Given the description of an element on the screen output the (x, y) to click on. 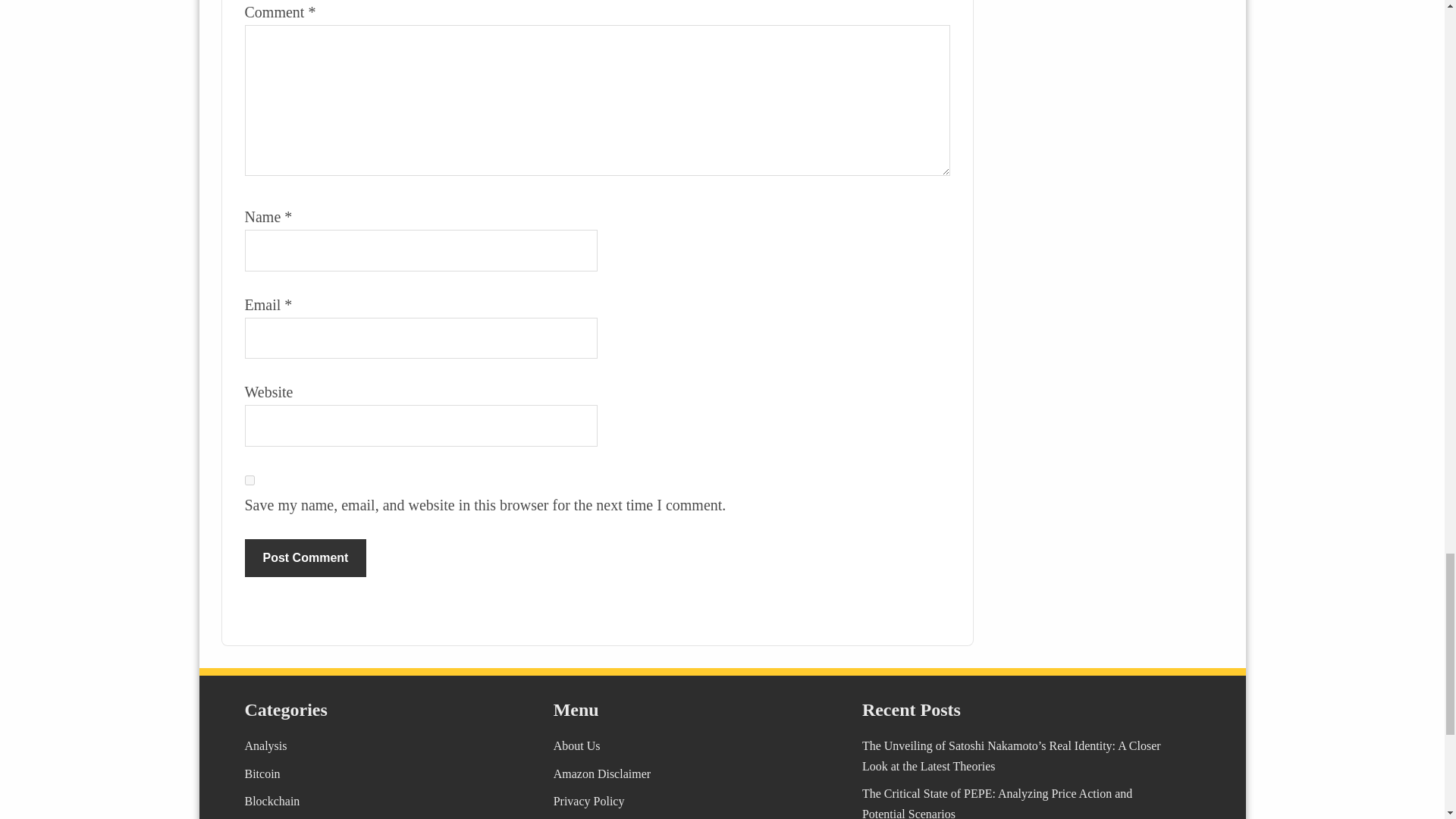
Post Comment (305, 557)
yes (248, 480)
